Given the description of an element on the screen output the (x, y) to click on. 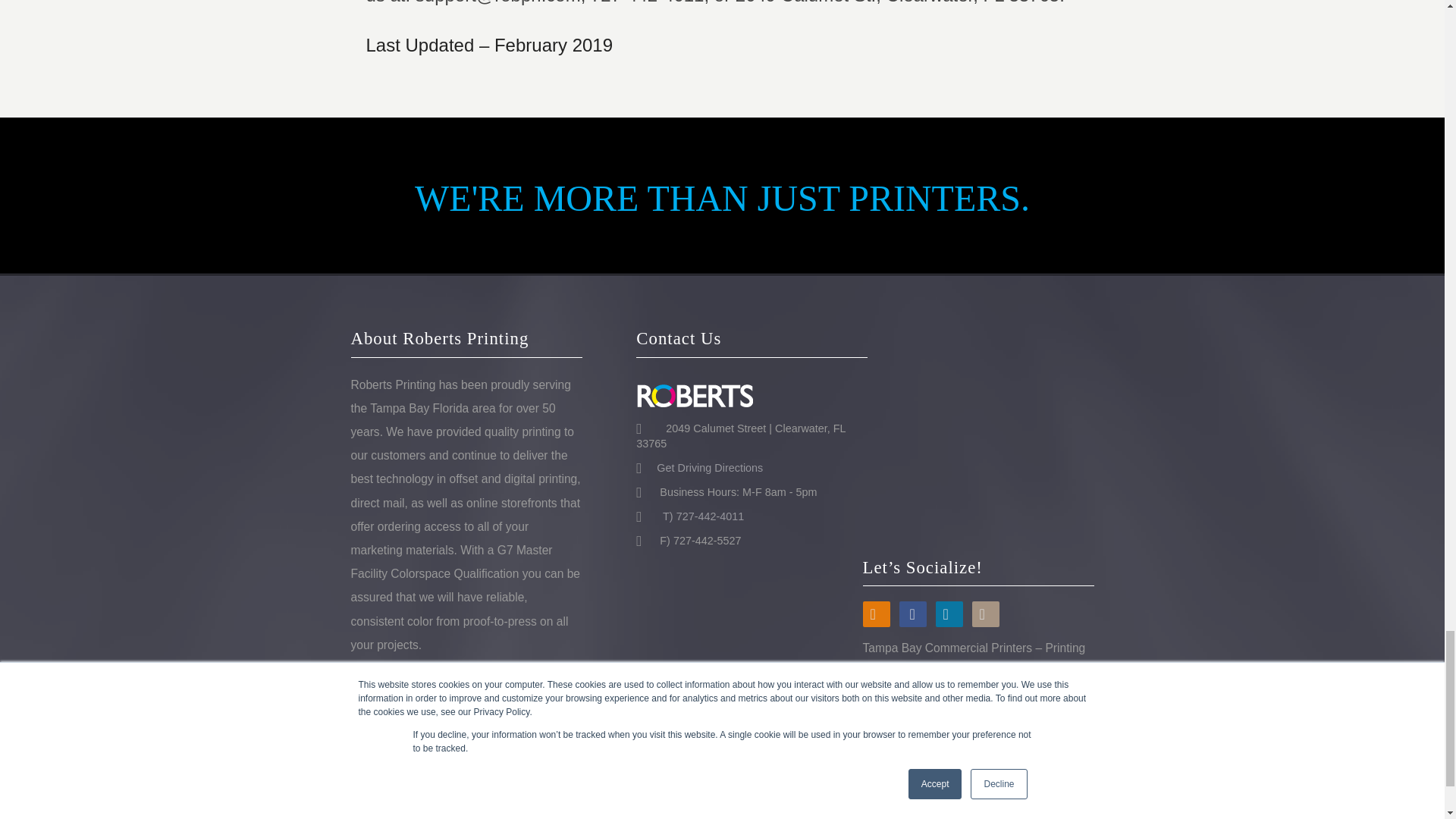
RSS (876, 614)
Facebook (912, 614)
LinkedIn (949, 614)
LinkedIn (949, 614)
Instagram (985, 614)
Facebook (912, 614)
Instagram (985, 614)
    Get Driving Directions (703, 467)
RSS Feed (876, 614)
